Given the description of an element on the screen output the (x, y) to click on. 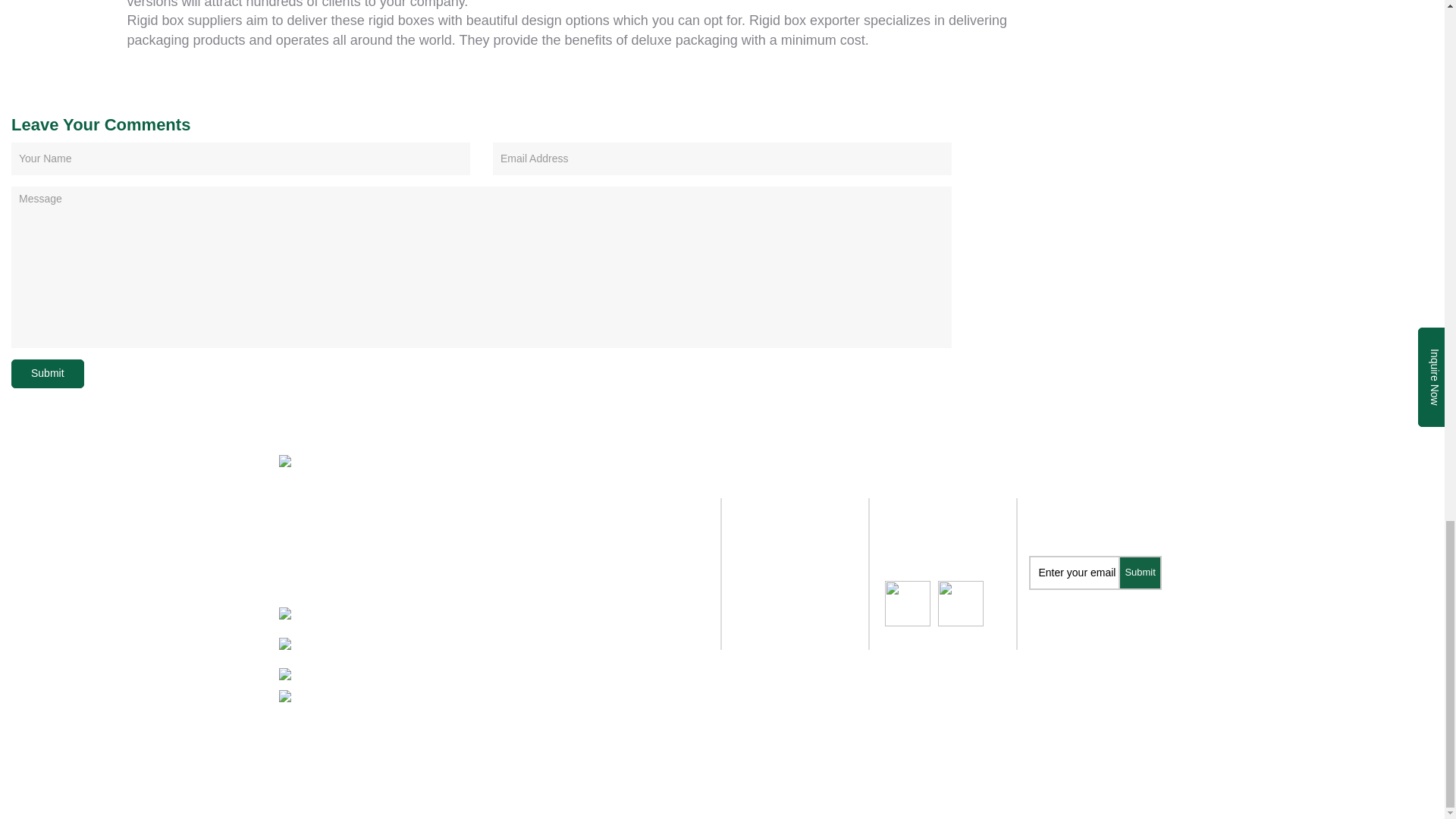
Submit (1139, 572)
Submit (47, 373)
